Given the description of an element on the screen output the (x, y) to click on. 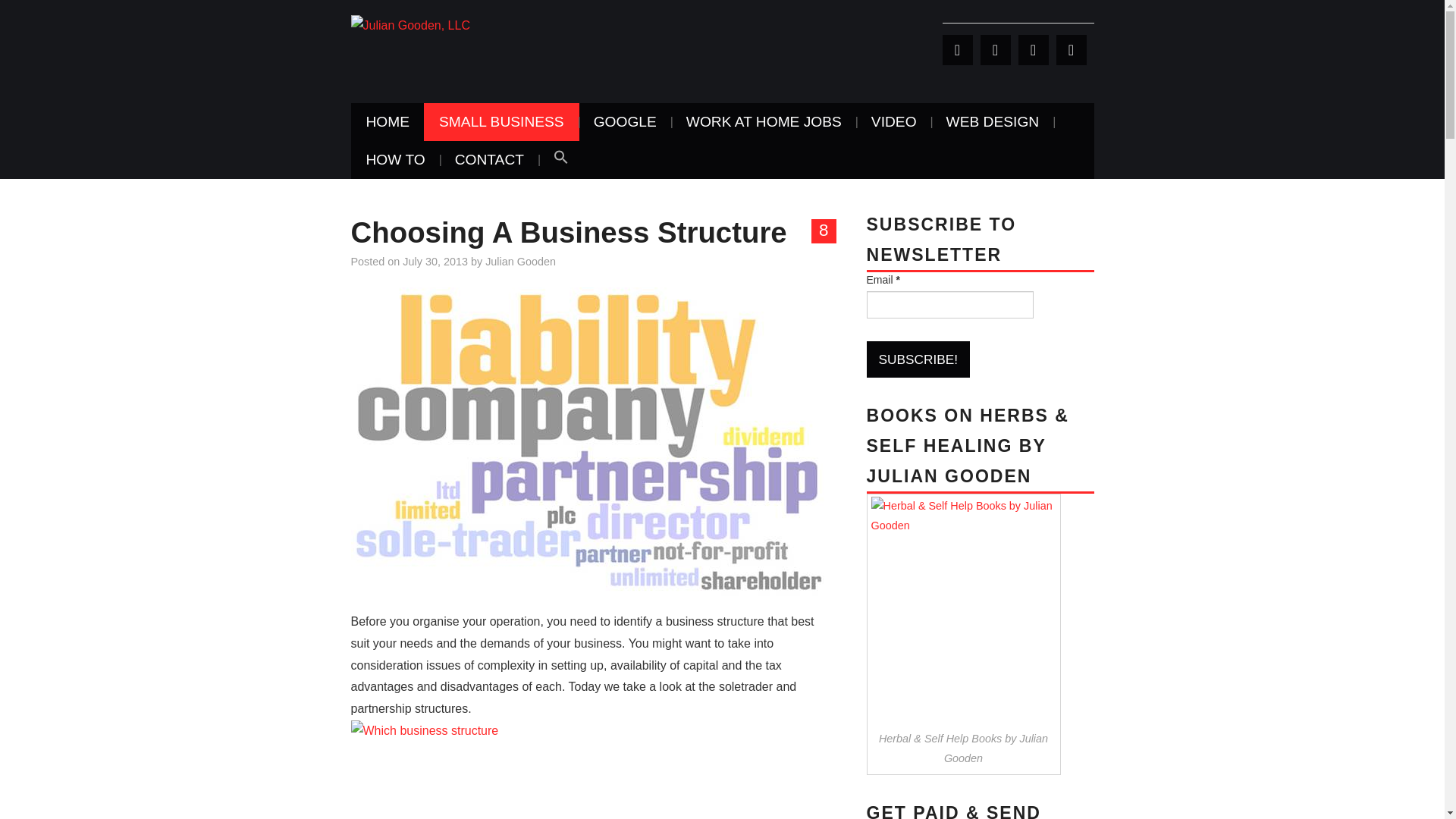
Subscribe! (917, 359)
WORK AT HOME JOBS (764, 121)
HOW TO (394, 159)
WEB DESIGN (992, 121)
Julian Gooden, LLC (409, 24)
Julian Gooden (520, 261)
8 (822, 231)
Facebook (994, 50)
LinkedIn (1032, 50)
VIDEO (893, 121)
GOOGLE (624, 121)
CONTACT (488, 159)
July 30, 2013 (435, 261)
HOME (387, 121)
Email (949, 304)
